Given the description of an element on the screen output the (x, y) to click on. 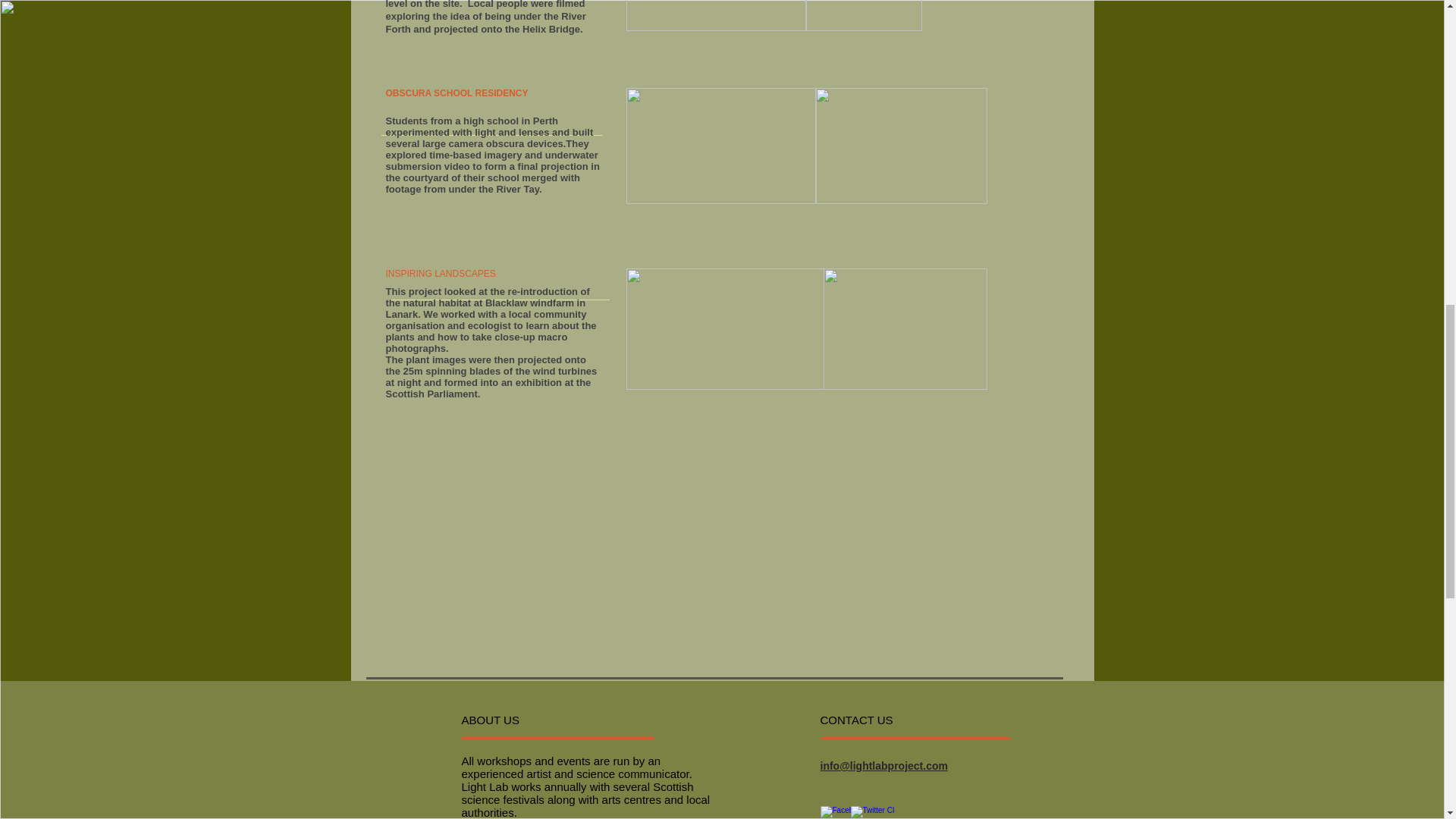
Lanark wind turbine projection.jpg (725, 328)
Falkirk Helix Bridge daytime Projection 5.jpg (716, 15)
